Given the description of an element on the screen output the (x, y) to click on. 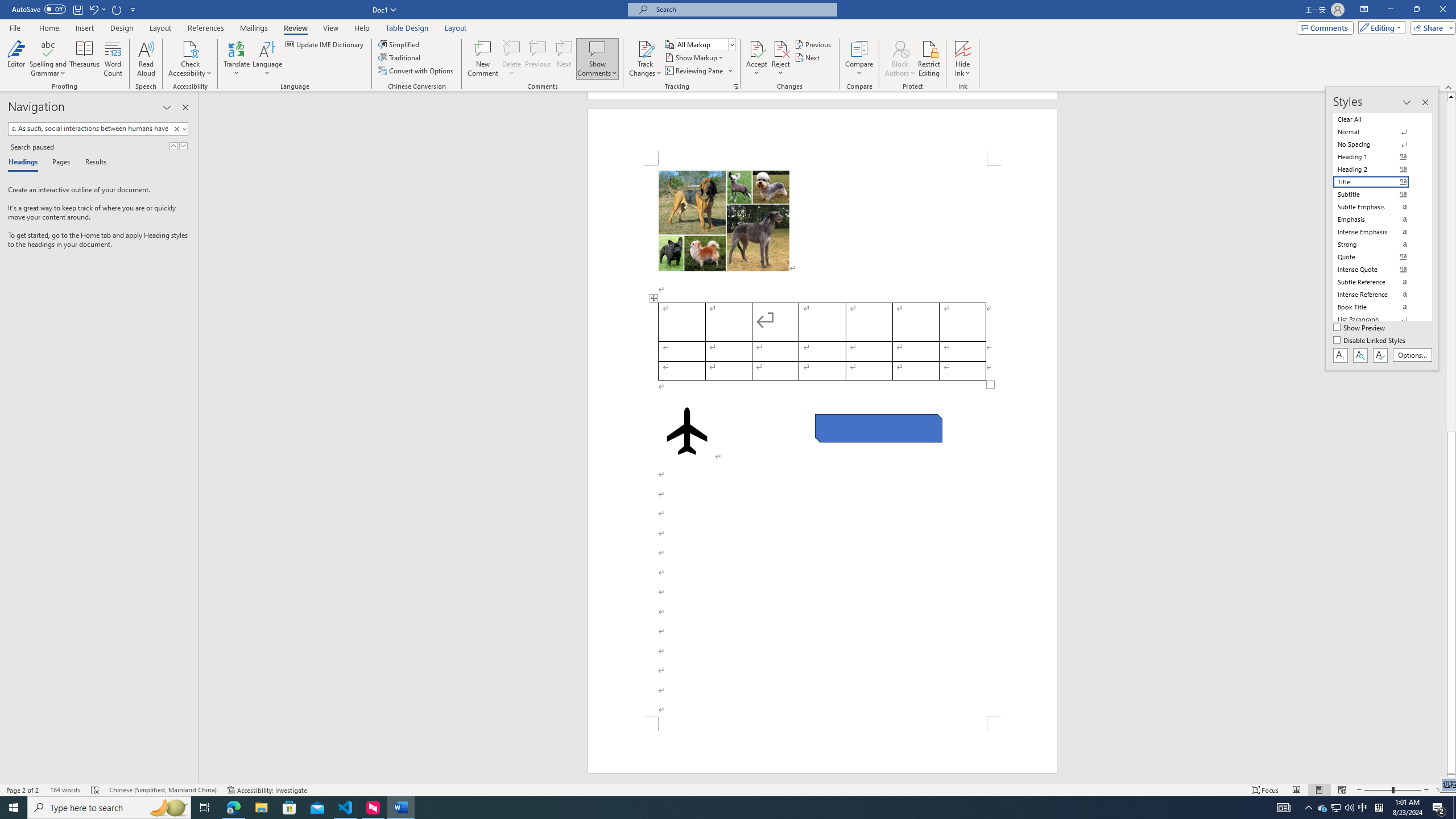
Page Number Page 2 of 2 (22, 790)
Focus  (1265, 790)
Spelling and Grammar (48, 58)
Help (361, 28)
Results (91, 162)
Book Title (1377, 306)
Intense Quote (1377, 269)
Show Markup (695, 56)
Customize Quick Access Toolbar (133, 9)
Web Layout (1342, 790)
Quote (1377, 256)
Word Count 184 words (64, 790)
Clear All (1377, 119)
Compare (859, 58)
